Given the description of an element on the screen output the (x, y) to click on. 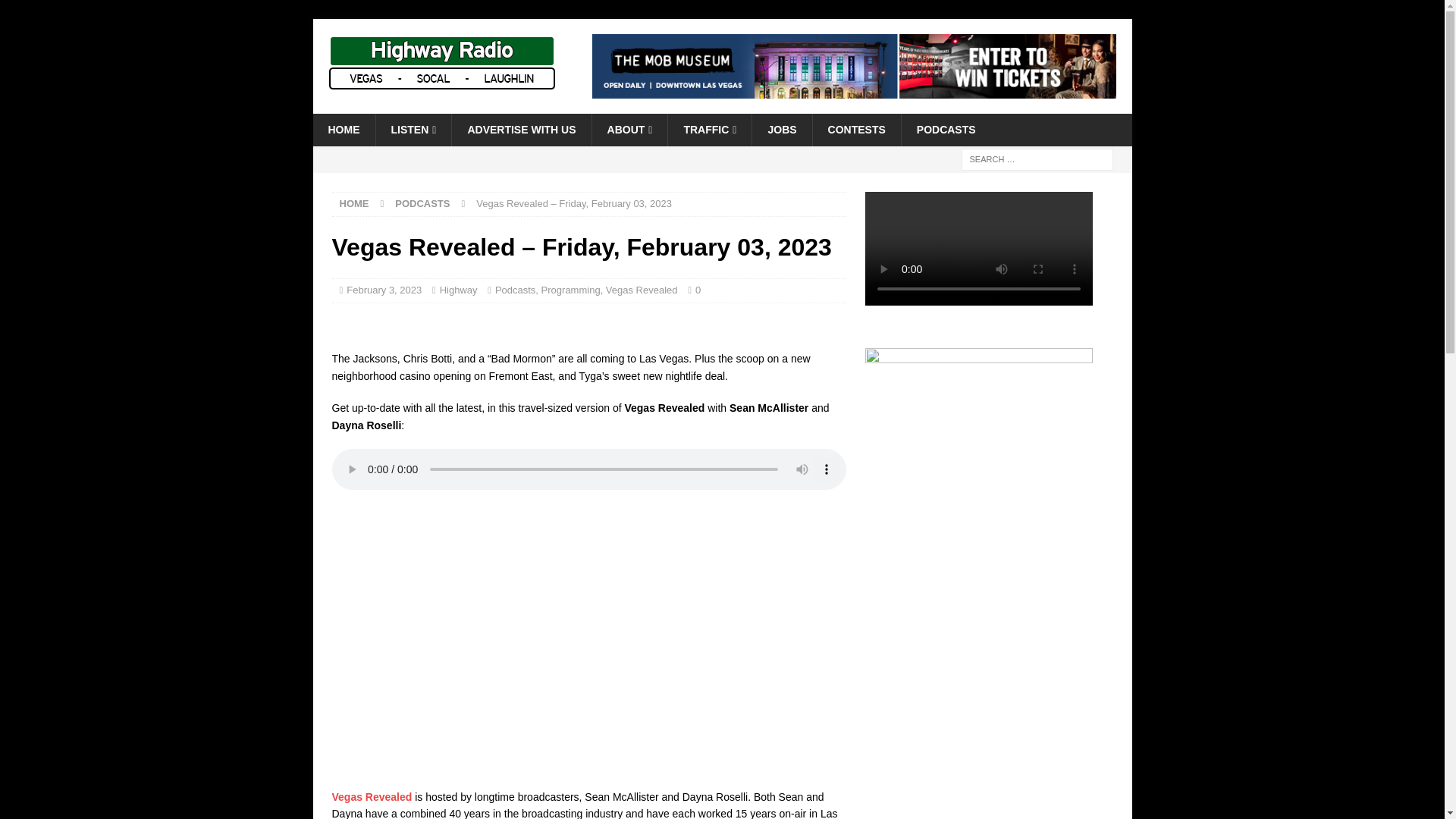
PODCASTS (946, 129)
HOME (354, 203)
HOME (343, 129)
ABOUT (629, 129)
LISTEN (412, 129)
CONTESTS (856, 129)
TRAFFIC (708, 129)
ADVERTISE WITH US (521, 129)
Podcasts (515, 289)
PODCASTS (421, 203)
